Given the description of an element on the screen output the (x, y) to click on. 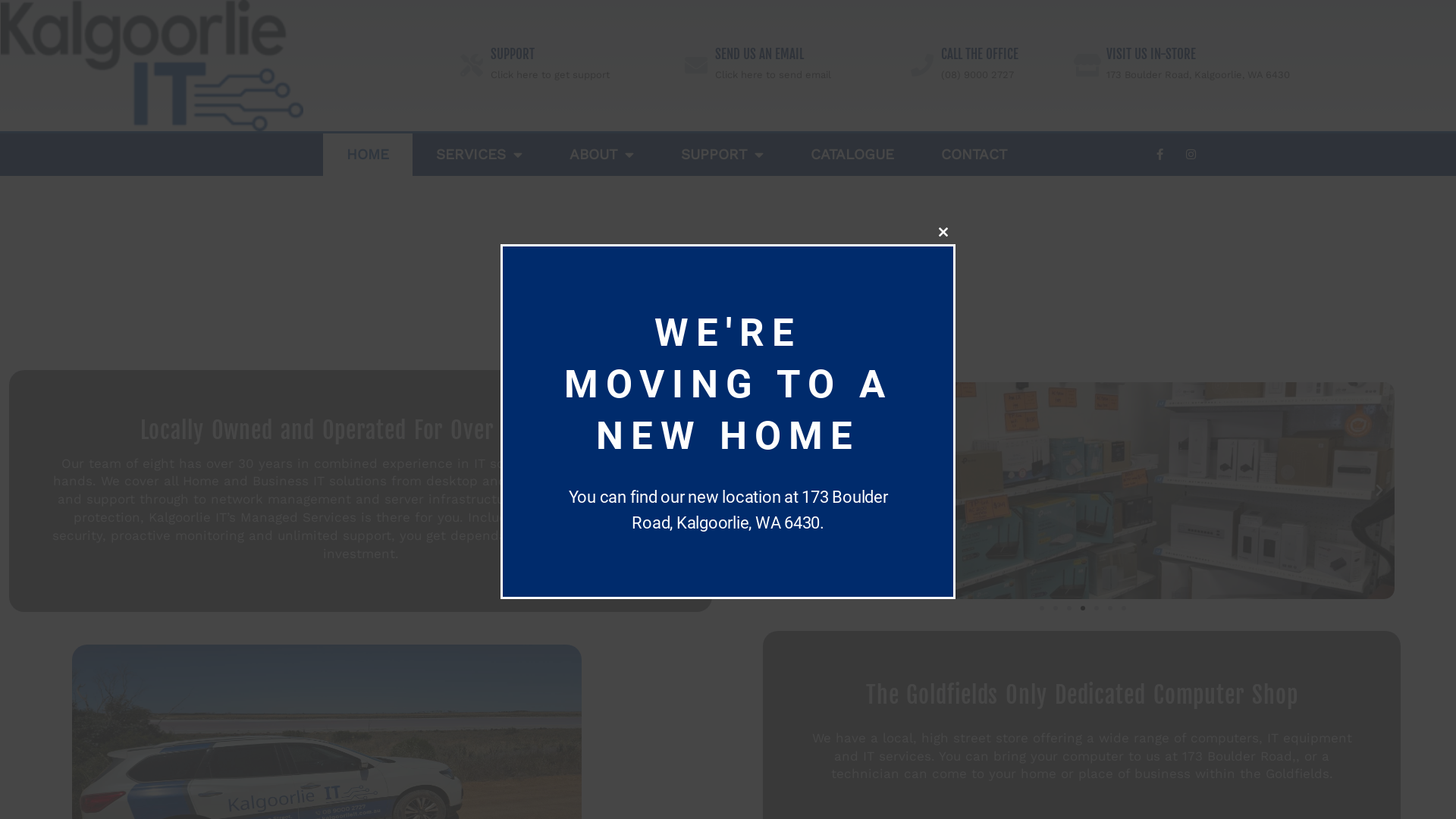
CATALOGUE Element type: text (852, 154)
SERVICES Element type: text (479, 154)
SUPPORT Element type: text (512, 54)
CONTACT Element type: text (973, 154)
ABOUT Element type: text (601, 154)
SUPPORT Element type: text (722, 154)
SEND US AN EMAIL Element type: text (759, 54)
HOME Element type: text (367, 154)
Close this module Element type: text (943, 231)
